Given the description of an element on the screen output the (x, y) to click on. 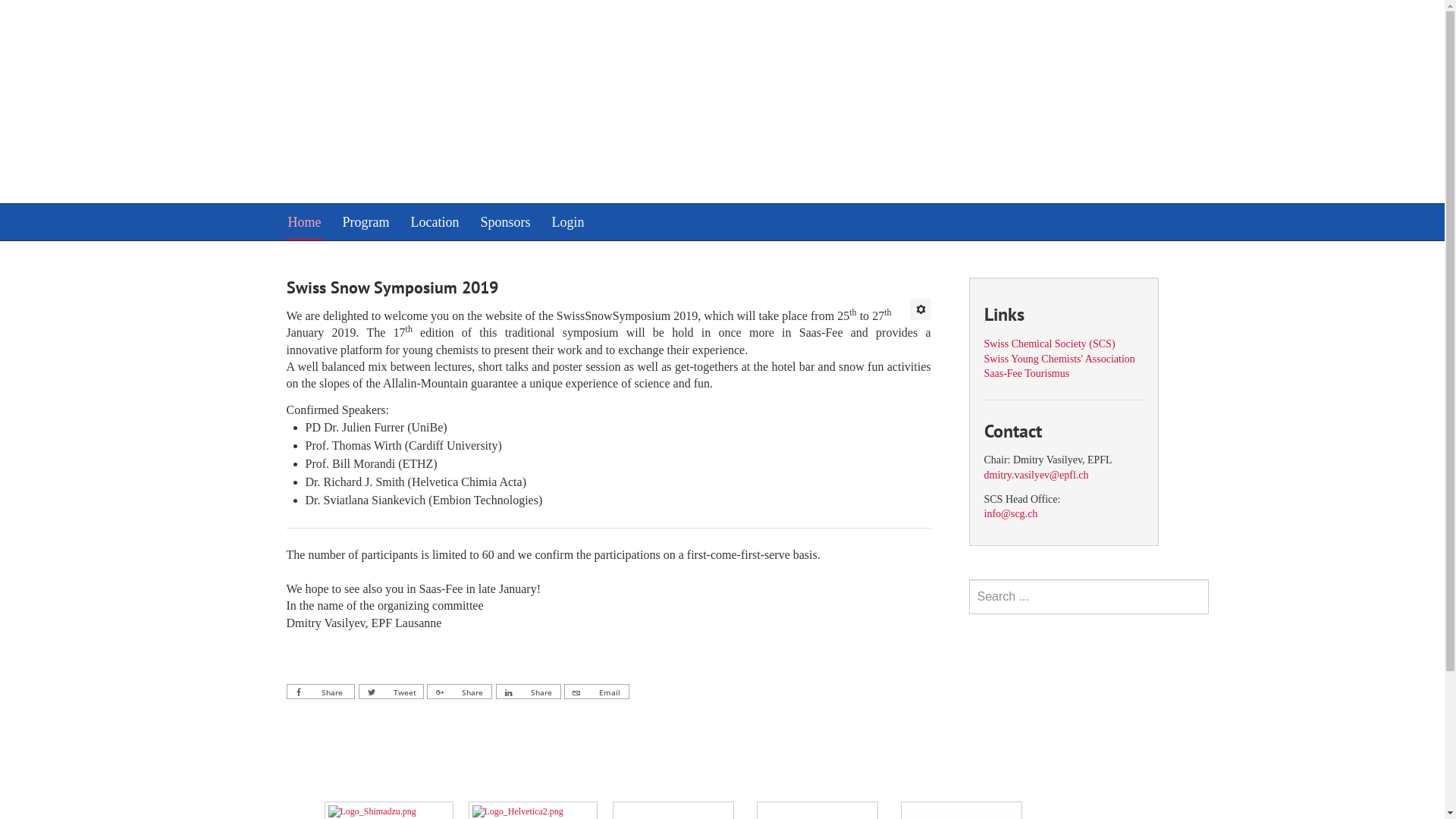
Share Element type: text (459, 691)
Swiss Snow Symposium 2019 Element type: text (392, 287)
Swiss Young Chemists' Association Element type: text (1059, 358)
Swiss Chemical Society (SCS) Element type: text (1049, 343)
Home Element type: text (304, 221)
Saas-Fee Tourismus Element type: text (1027, 373)
Tweet Element type: text (390, 691)
Share Element type: text (320, 691)
Program Element type: text (366, 221)
Email Element type: text (596, 691)
Sponsors Element type: text (504, 221)
Location Element type: text (435, 221)
Share Element type: text (528, 691)
Login Element type: text (568, 221)
